Given the description of an element on the screen output the (x, y) to click on. 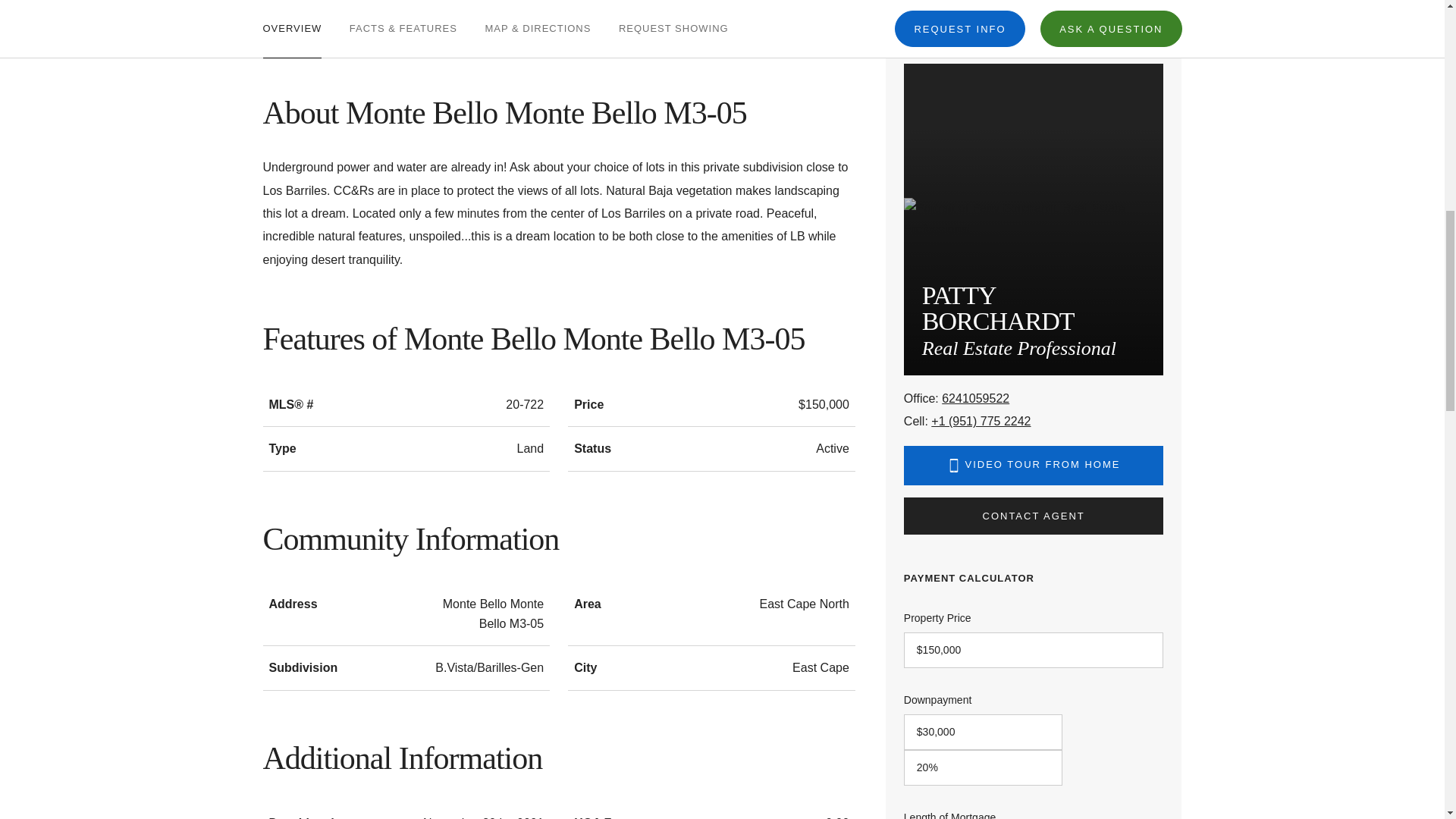
OVERVIEW (291, 22)
MOBILE ICON (953, 465)
